Given the description of an element on the screen output the (x, y) to click on. 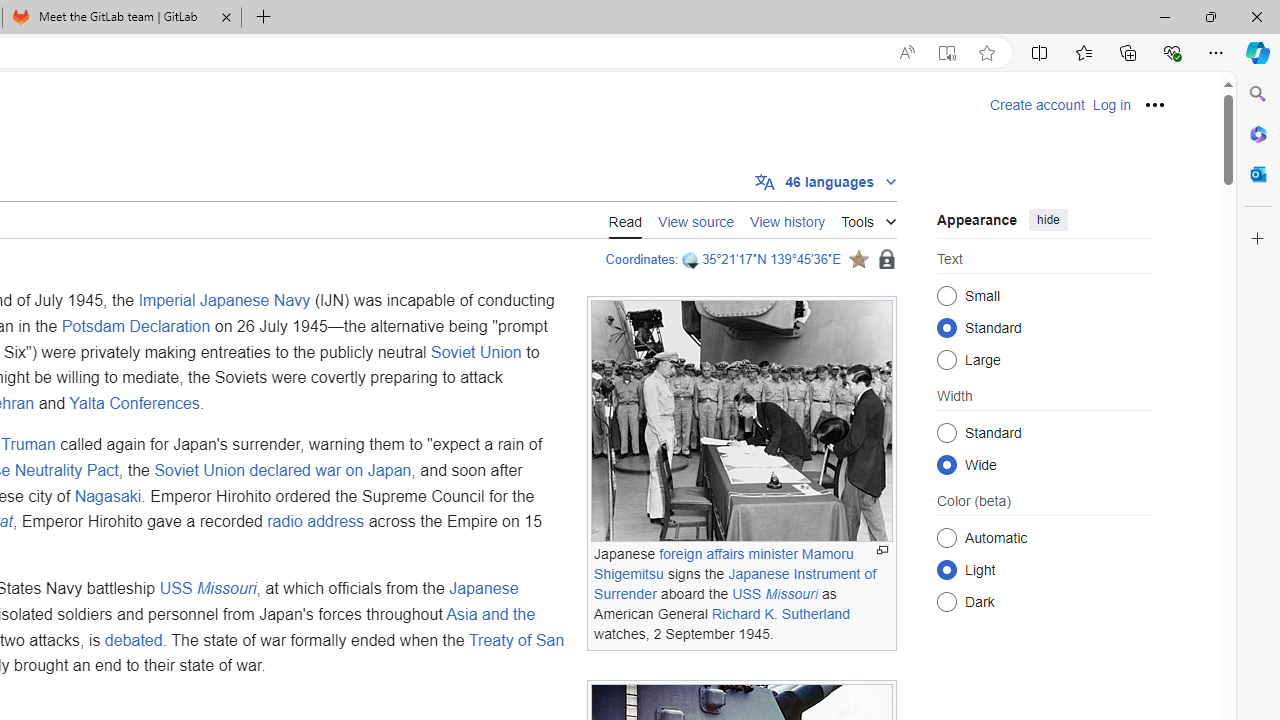
View history (787, 219)
View source (695, 219)
Imperial Japanese Navy (224, 301)
foreign affairs minister (728, 554)
Tools (868, 218)
radio address (315, 521)
Automatic (946, 537)
Read (625, 219)
Page semi-protected (886, 259)
Create account (1037, 105)
Featured article (858, 259)
